Given the description of an element on the screen output the (x, y) to click on. 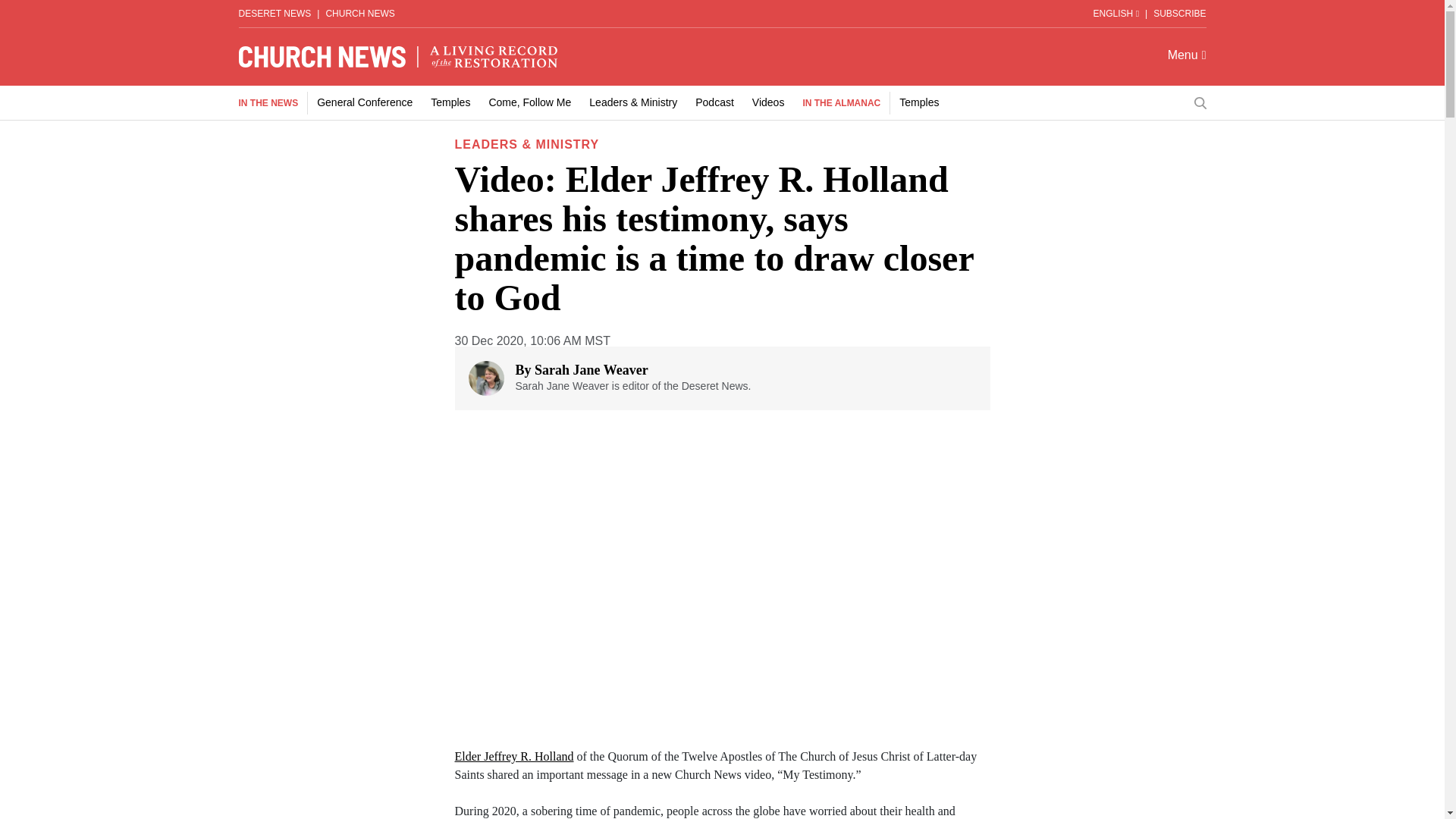
Podcast (714, 102)
Temples (919, 102)
SUBSCRIBE (1179, 13)
General Conference (364, 102)
Come, Follow Me (528, 102)
Elder Jeffrey R. Holland (513, 756)
Videos (768, 102)
Temples (450, 102)
Sarah Jane Weaver (590, 369)
DESERET NEWS (274, 13)
